Given the description of an element on the screen output the (x, y) to click on. 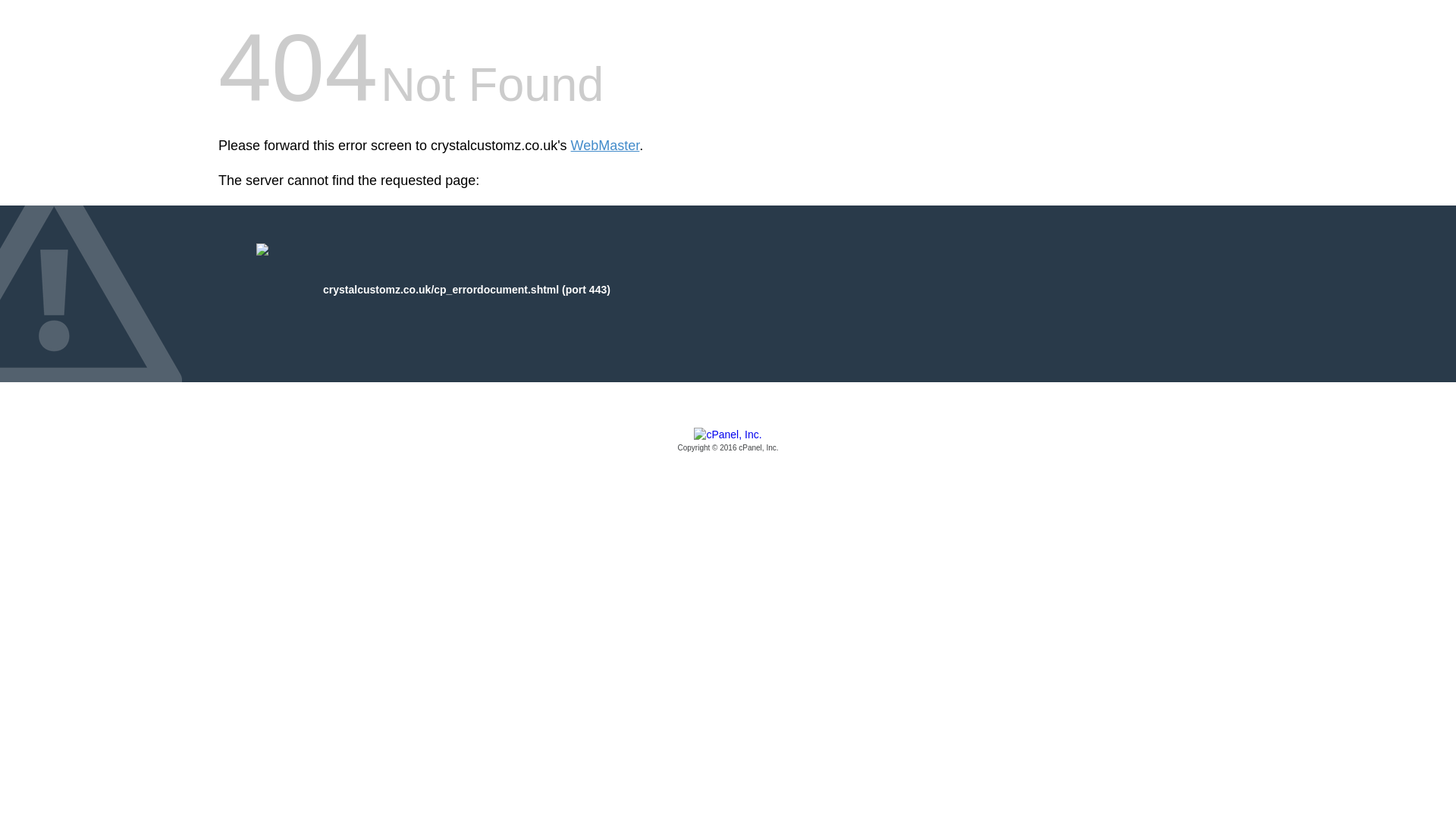
cPanel, Inc. (727, 440)
WebMaster (605, 145)
